Given the description of an element on the screen output the (x, y) to click on. 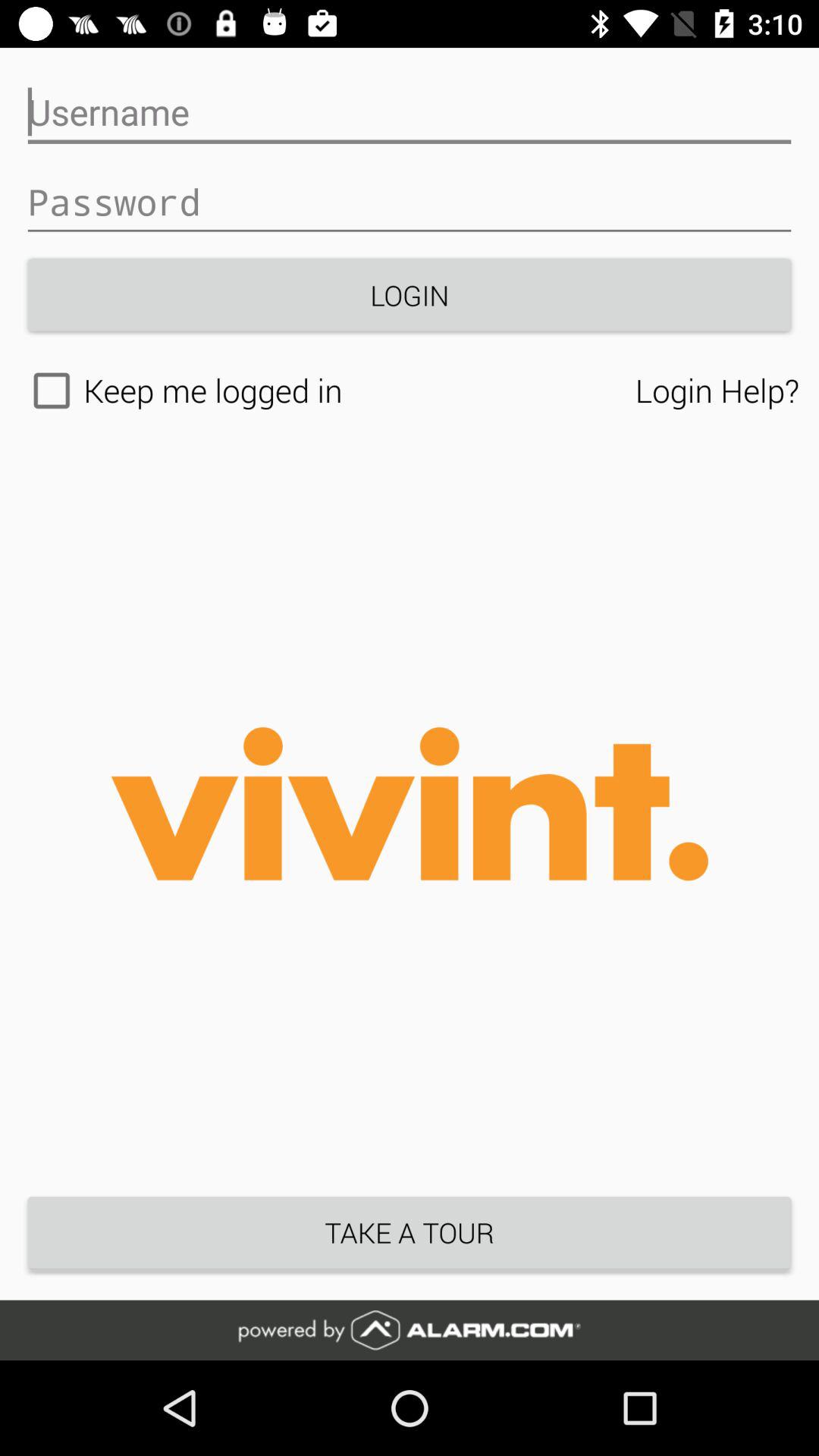
choose icon next to keep me logged icon (717, 390)
